Given the description of an element on the screen output the (x, y) to click on. 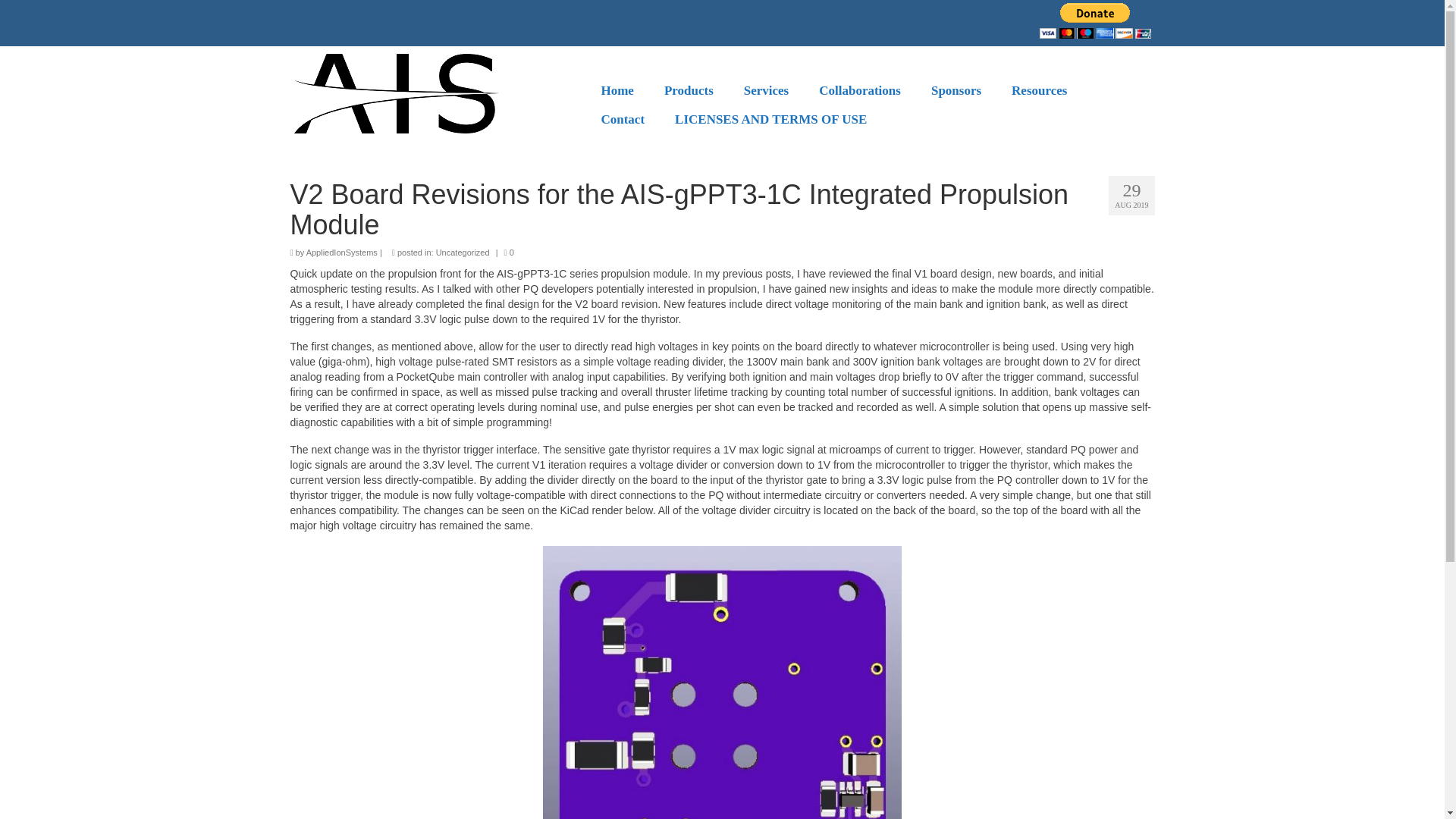
Collaborations (859, 90)
Services (766, 90)
Contact (622, 119)
Products (689, 90)
Sponsors (955, 90)
AppliedIonSystems (341, 252)
Resources (1038, 90)
LICENSES AND TERMS OF USE (770, 119)
Home (616, 90)
Uncategorized (462, 252)
